Given the description of an element on the screen output the (x, y) to click on. 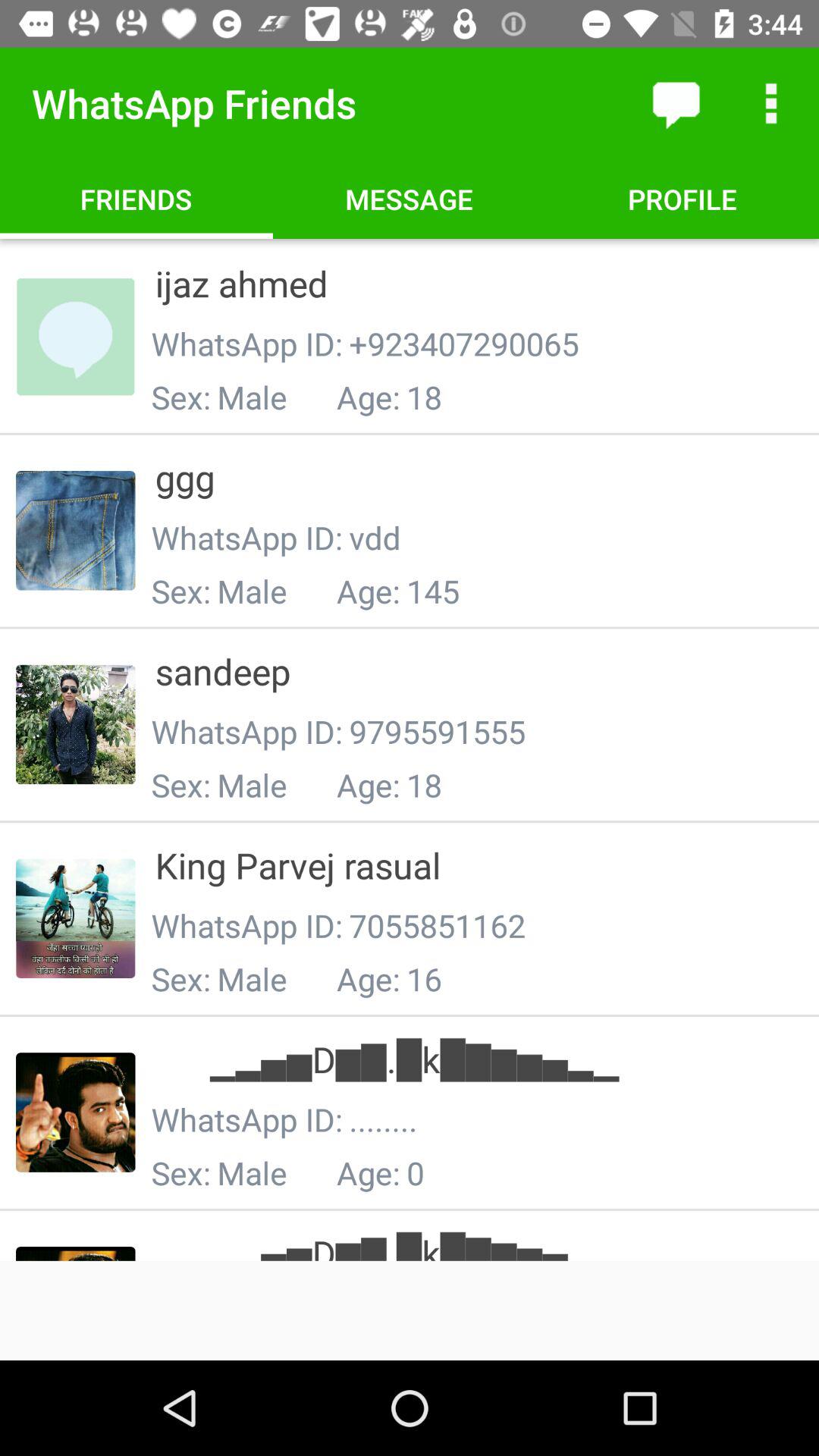
write a message (675, 103)
